Given the description of an element on the screen output the (x, y) to click on. 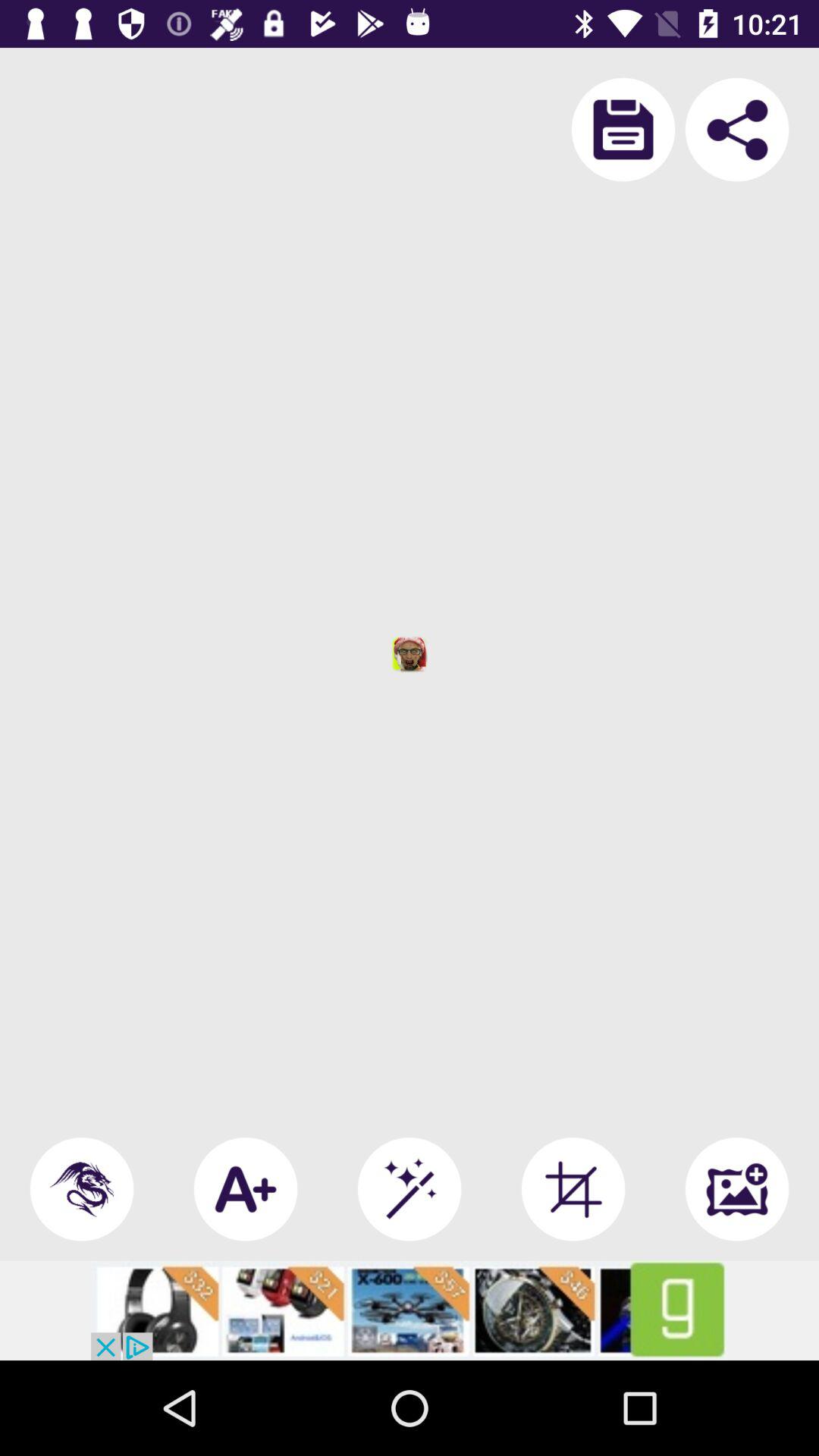
go to advertiser site (409, 1310)
